Given the description of an element on the screen output the (x, y) to click on. 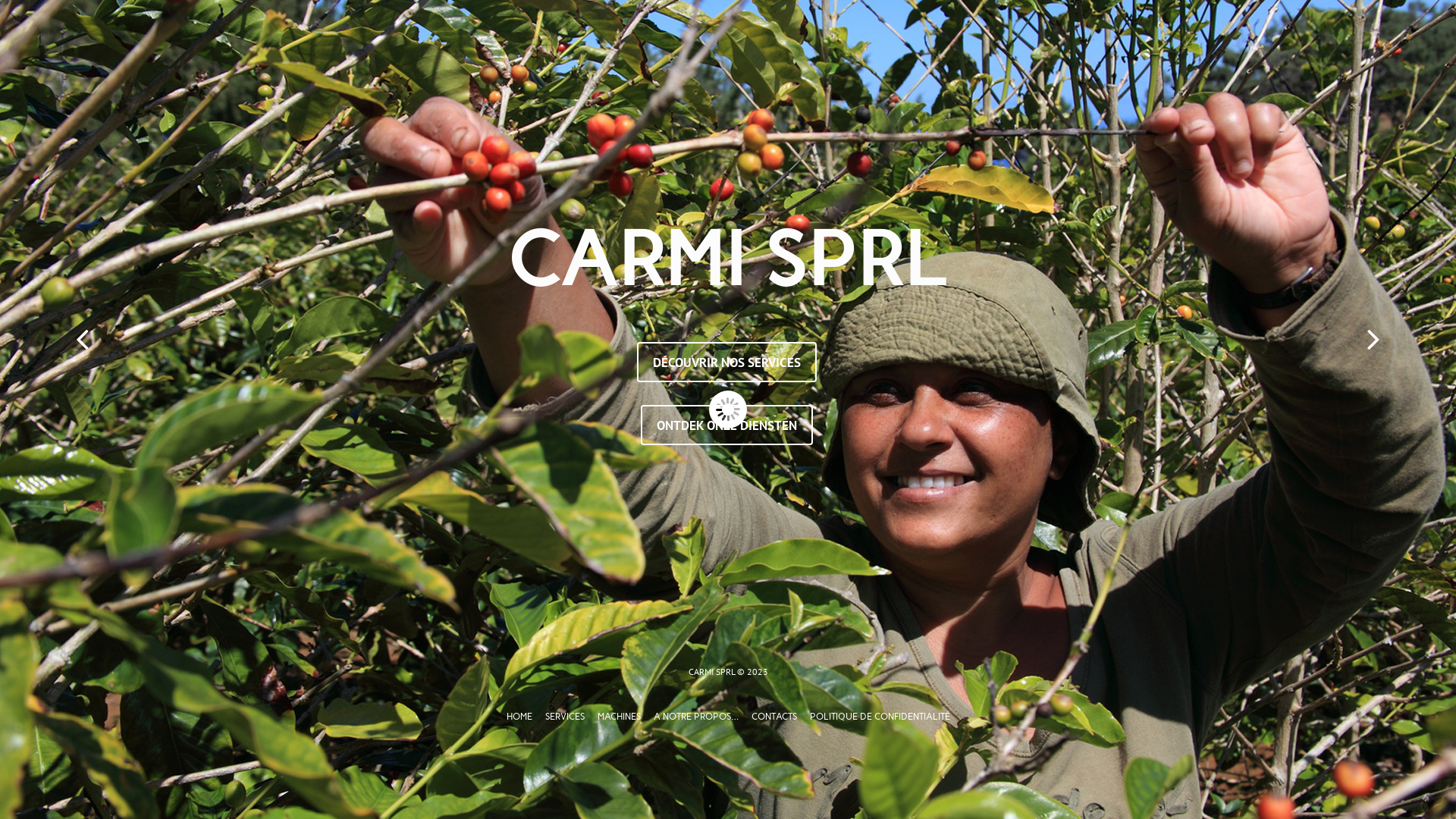
CONTACTS Element type: text (773, 716)
Next Element type: text (1373, 338)
ONTDEK ONZE DIENSTEN Element type: text (726, 424)
CARMI SPRL Element type: text (726, 258)
CARMI SPRL Element type: text (711, 671)
SERVICES Element type: text (563, 716)
Prev Element type: text (81, 338)
HOME Element type: text (519, 716)
MACHINES Element type: text (618, 716)
